Given the description of an element on the screen output the (x, y) to click on. 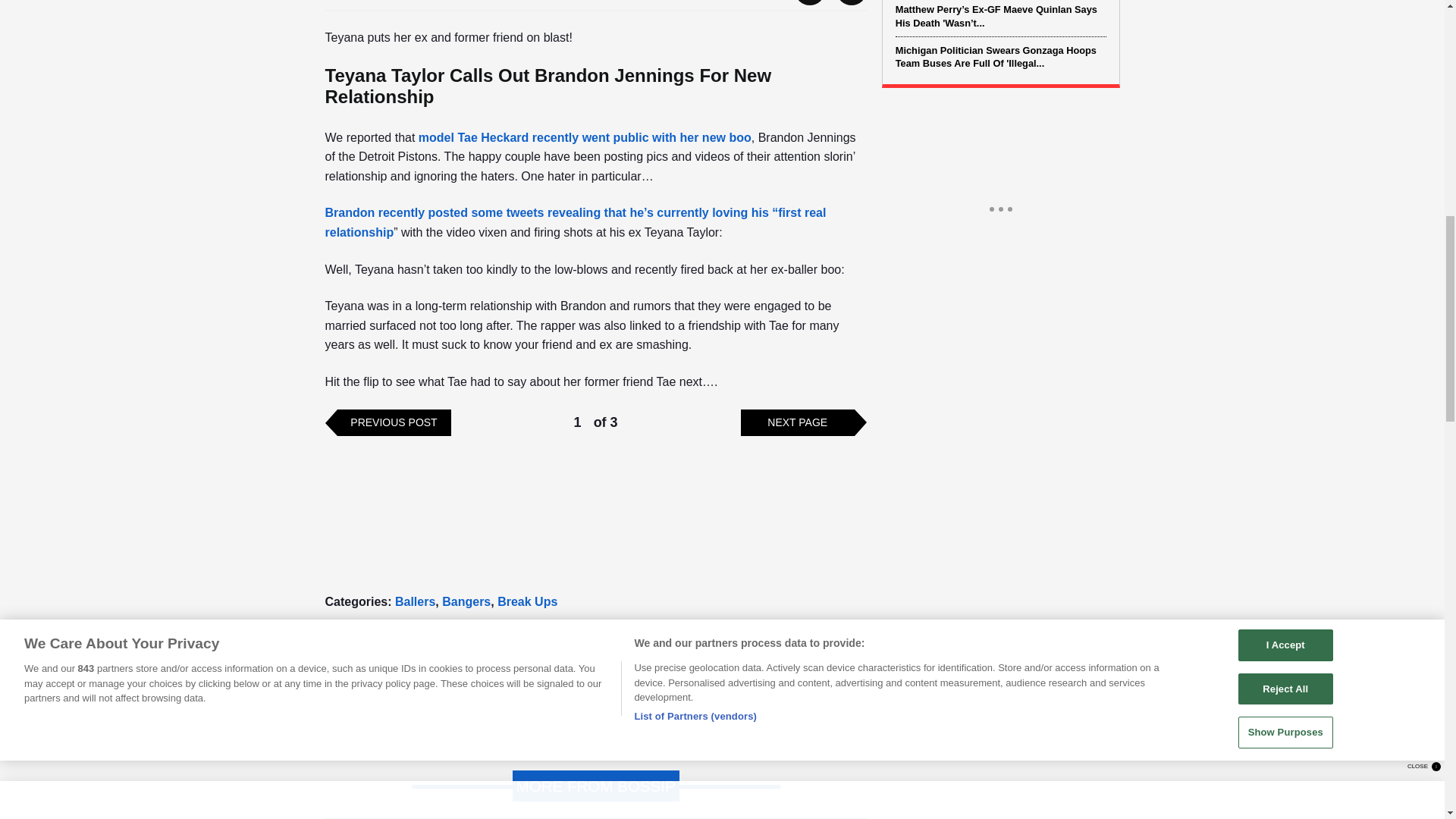
Break Ups (527, 600)
Ballers (414, 600)
NEXT PAGE (797, 422)
Bangers (466, 600)
model Tae Heckard recently went public with her new boo (585, 137)
PREVIOUS POST (392, 422)
Vuukle Sharebar Widget (595, 635)
